Given the description of an element on the screen output the (x, y) to click on. 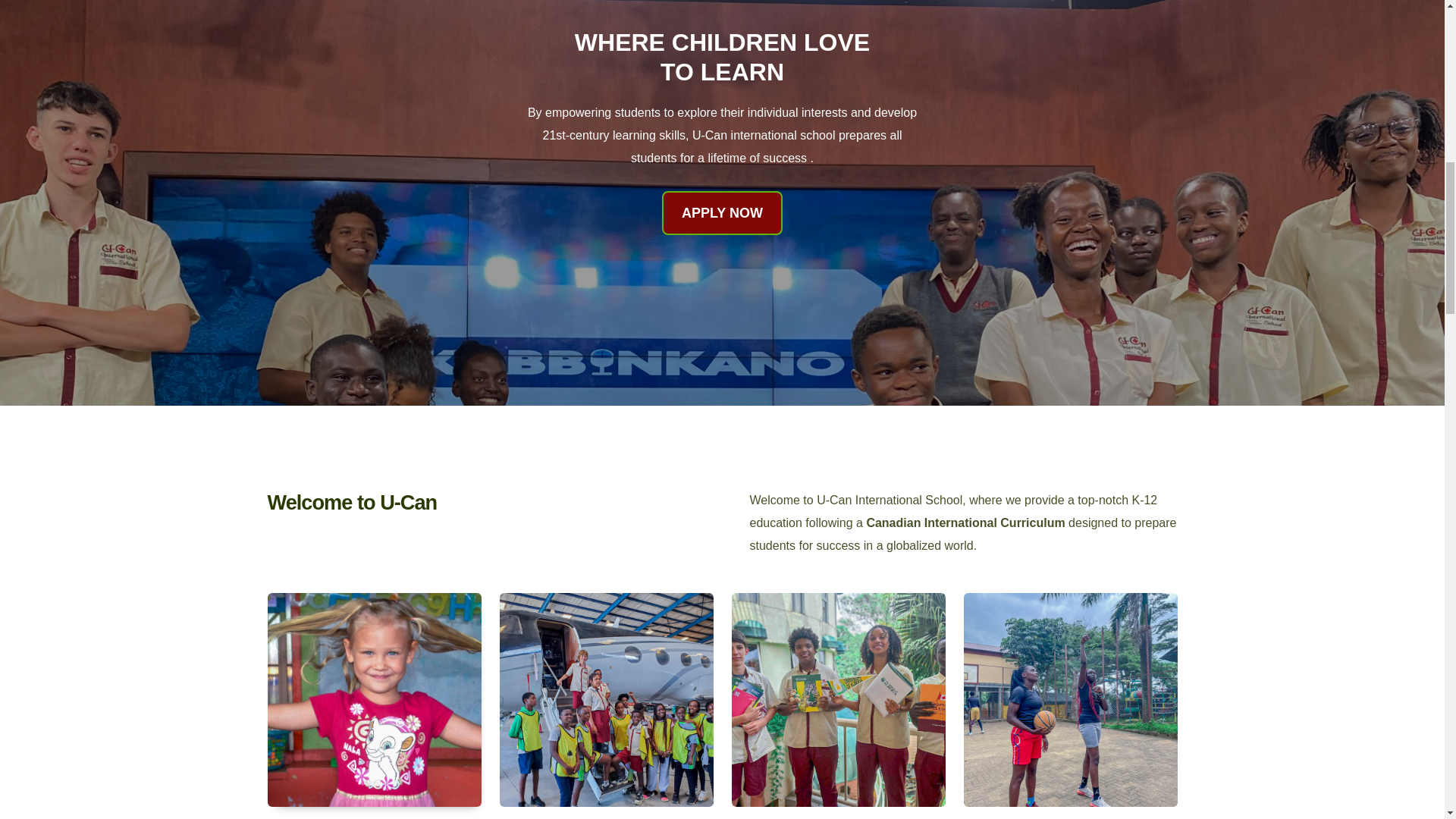
ad (1069, 699)
